Given the description of an element on the screen output the (x, y) to click on. 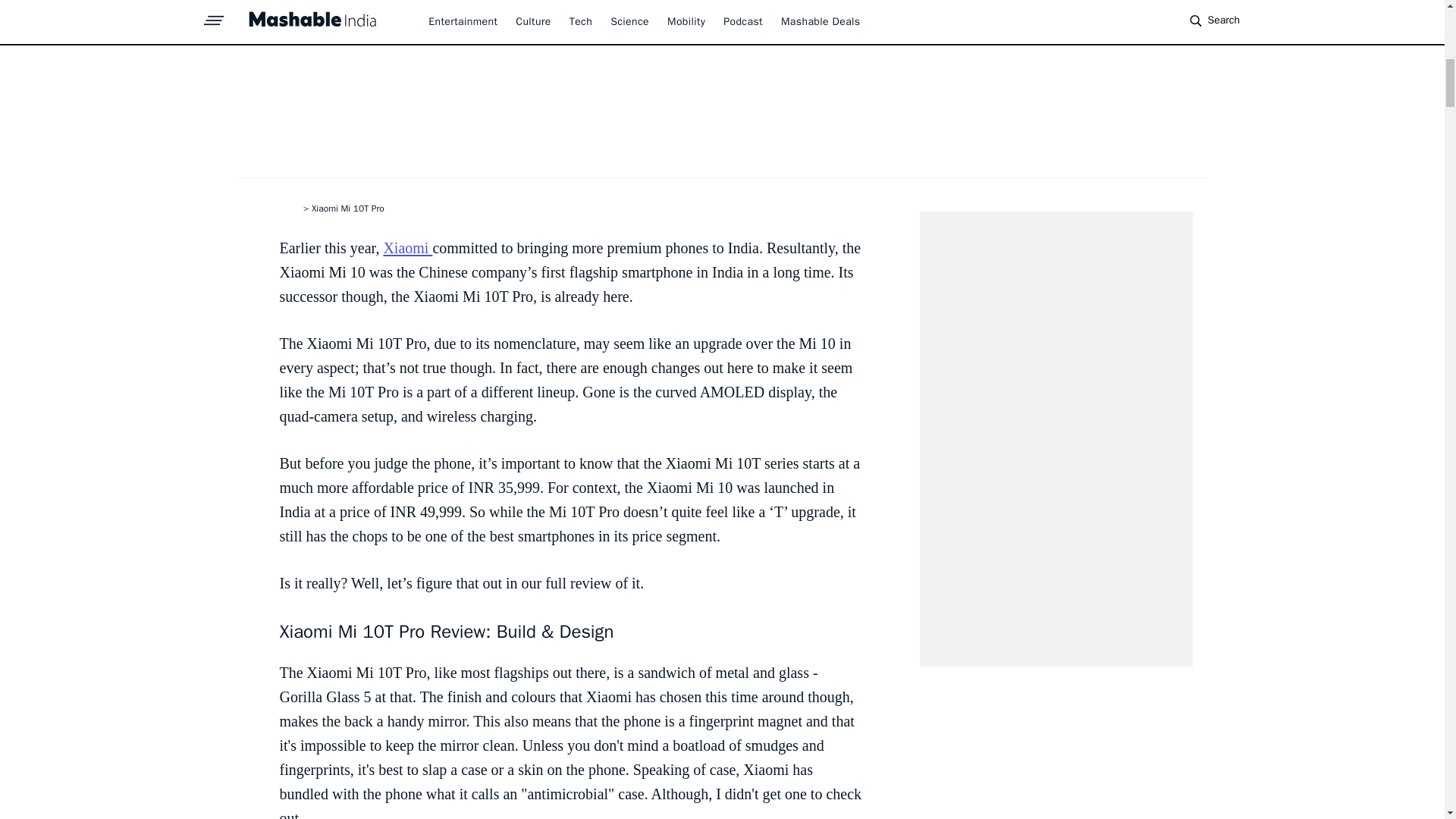
Xiaomi (407, 247)
